Given the description of an element on the screen output the (x, y) to click on. 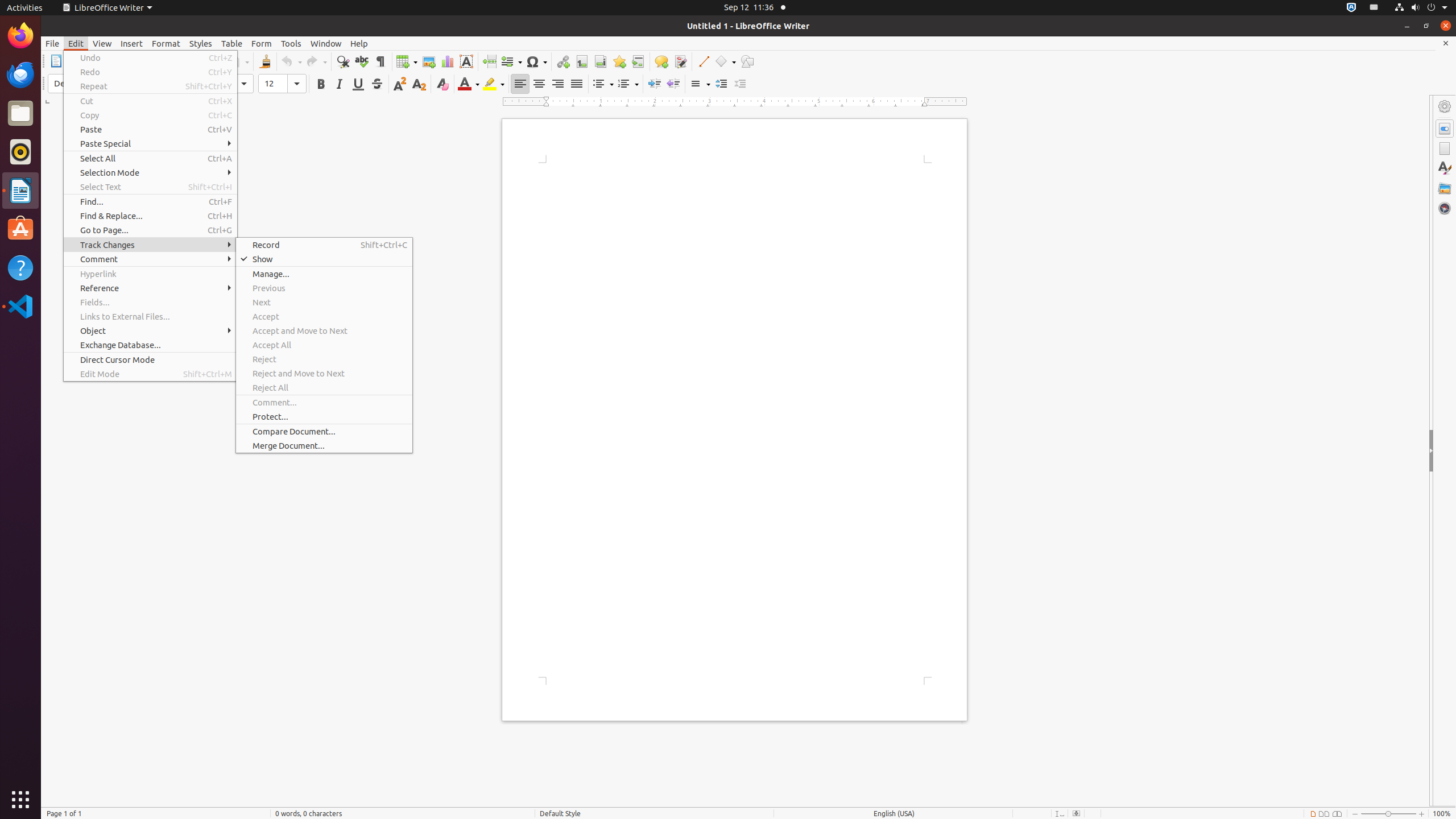
Comment Element type: menu (150, 258)
Help Element type: menu (358, 43)
Increase Element type: push-button (721, 83)
Line Spacing Element type: push-button (699, 83)
Format Element type: menu (165, 43)
